Given the description of an element on the screen output the (x, y) to click on. 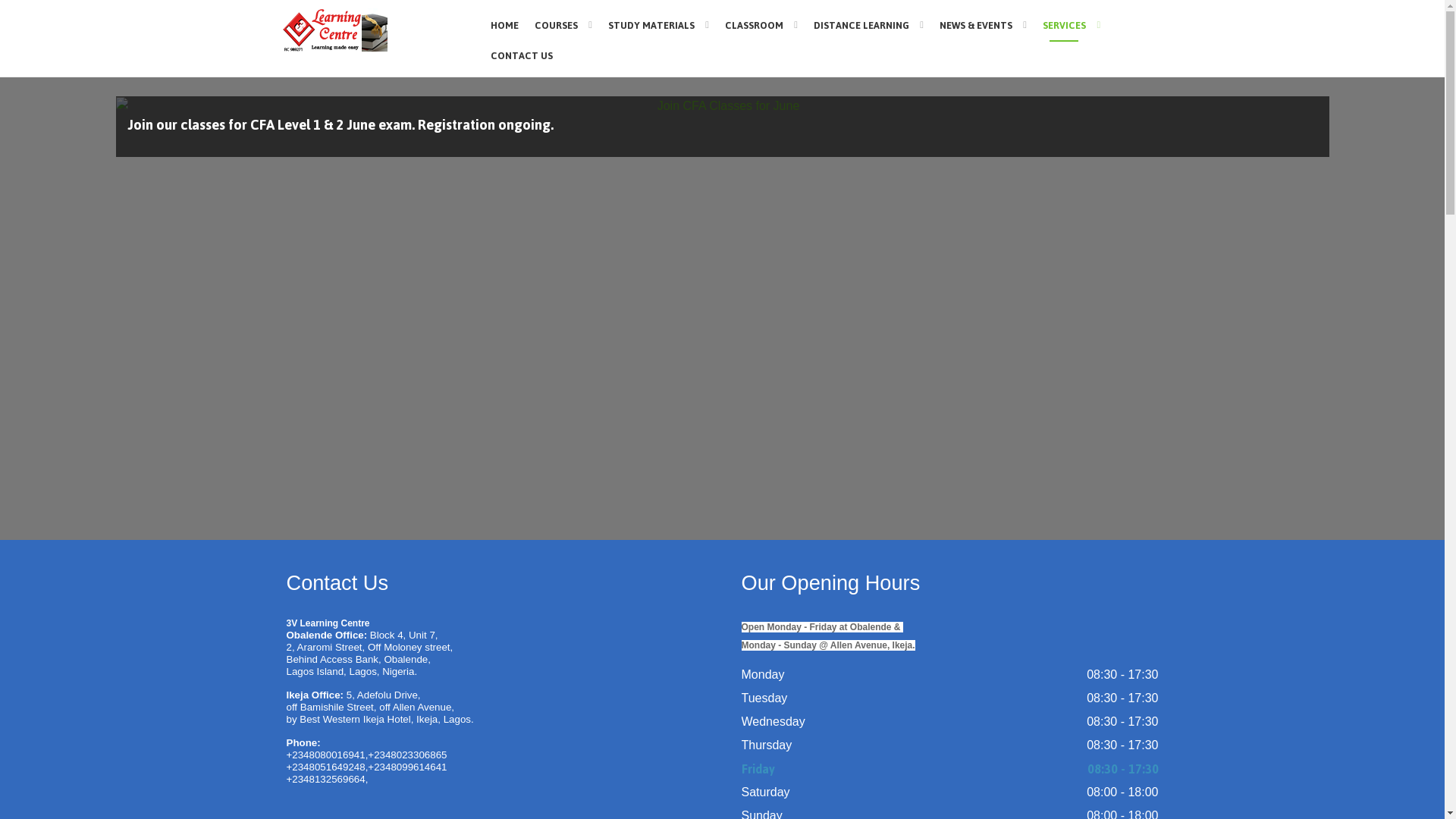
NEWS & EVENTS Element type: text (983, 24)
CONTACT US Element type: text (521, 55)
HOME Element type: text (504, 24)
Ethereal Element type: hover (371, 29)
SERVICES Element type: text (1071, 24)
STUDY MATERIALS Element type: text (658, 24)
CLASSROOM Element type: text (760, 24)
DISTANCE LEARNING Element type: text (867, 24)
COURSES Element type: text (562, 24)
